Given the description of an element on the screen output the (x, y) to click on. 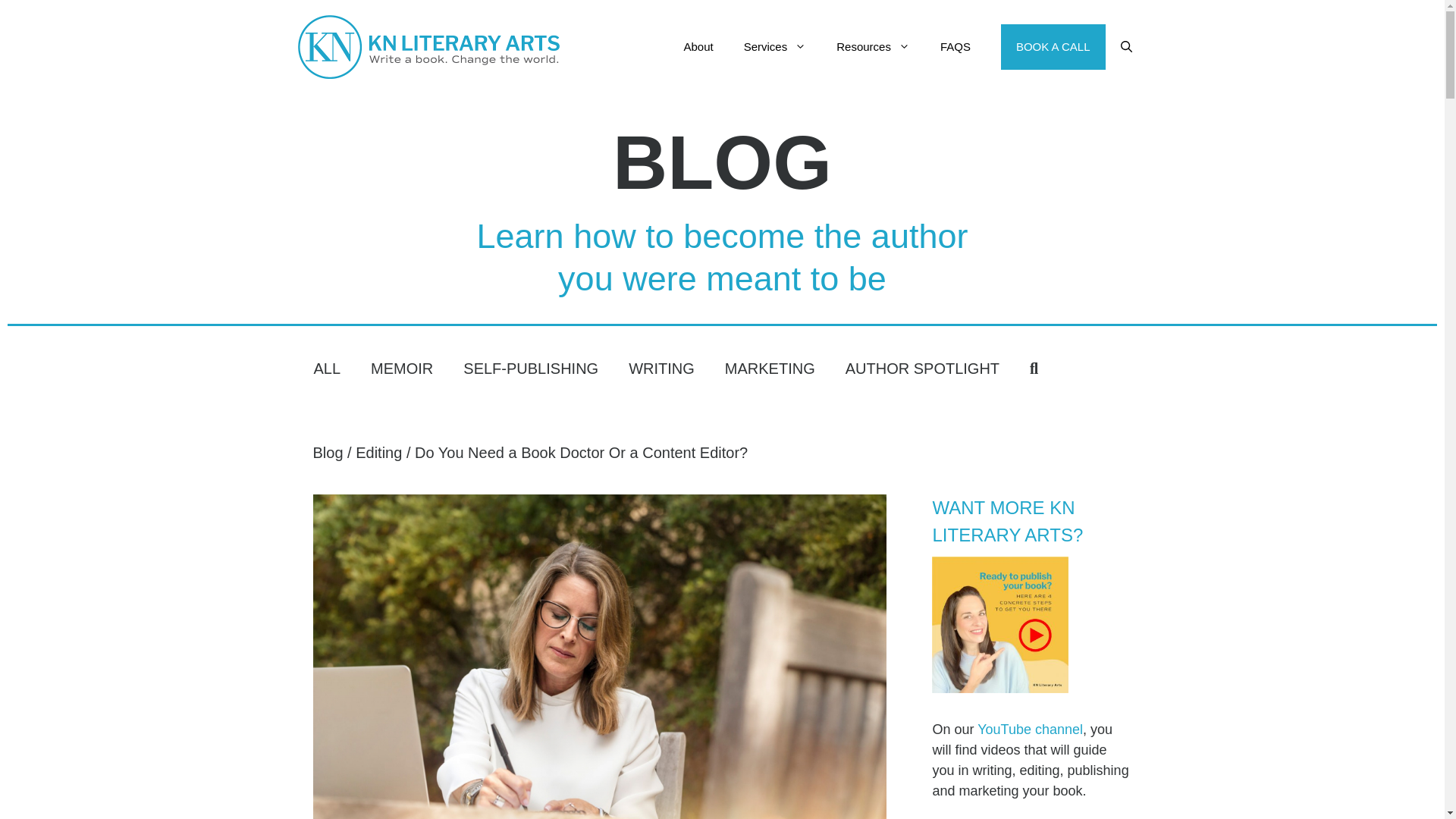
WRITING (661, 367)
Go to KN Literary Arts. (327, 452)
Services (775, 46)
Go to Do You Need a Book Doctor Or a Content Editor?. (581, 452)
Resources (872, 46)
MEMOIR (401, 367)
BOOK A CALL (1053, 46)
KN Literary Arts (428, 46)
SELF-PUBLISHING (530, 367)
FAQS (954, 46)
